Given the description of an element on the screen output the (x, y) to click on. 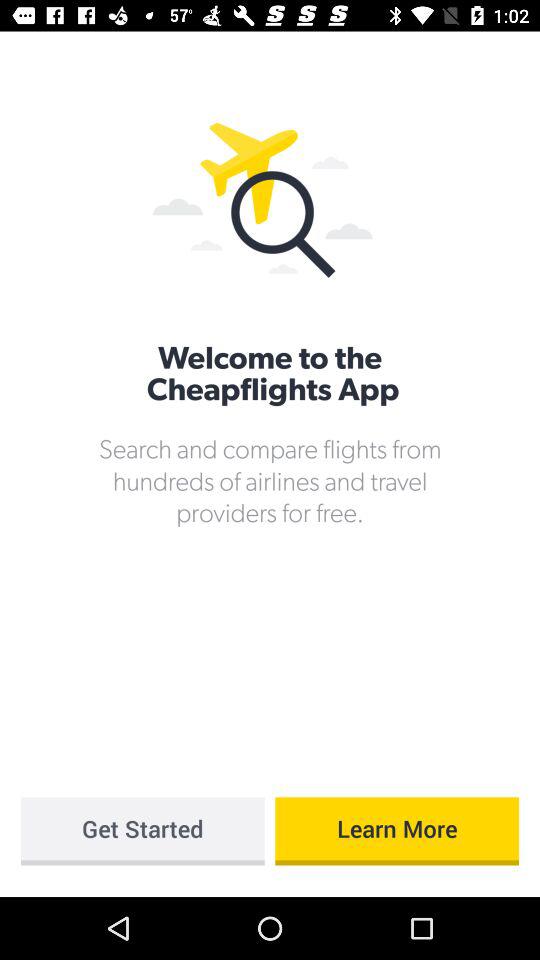
open item next to the get started (397, 831)
